Given the description of an element on the screen output the (x, y) to click on. 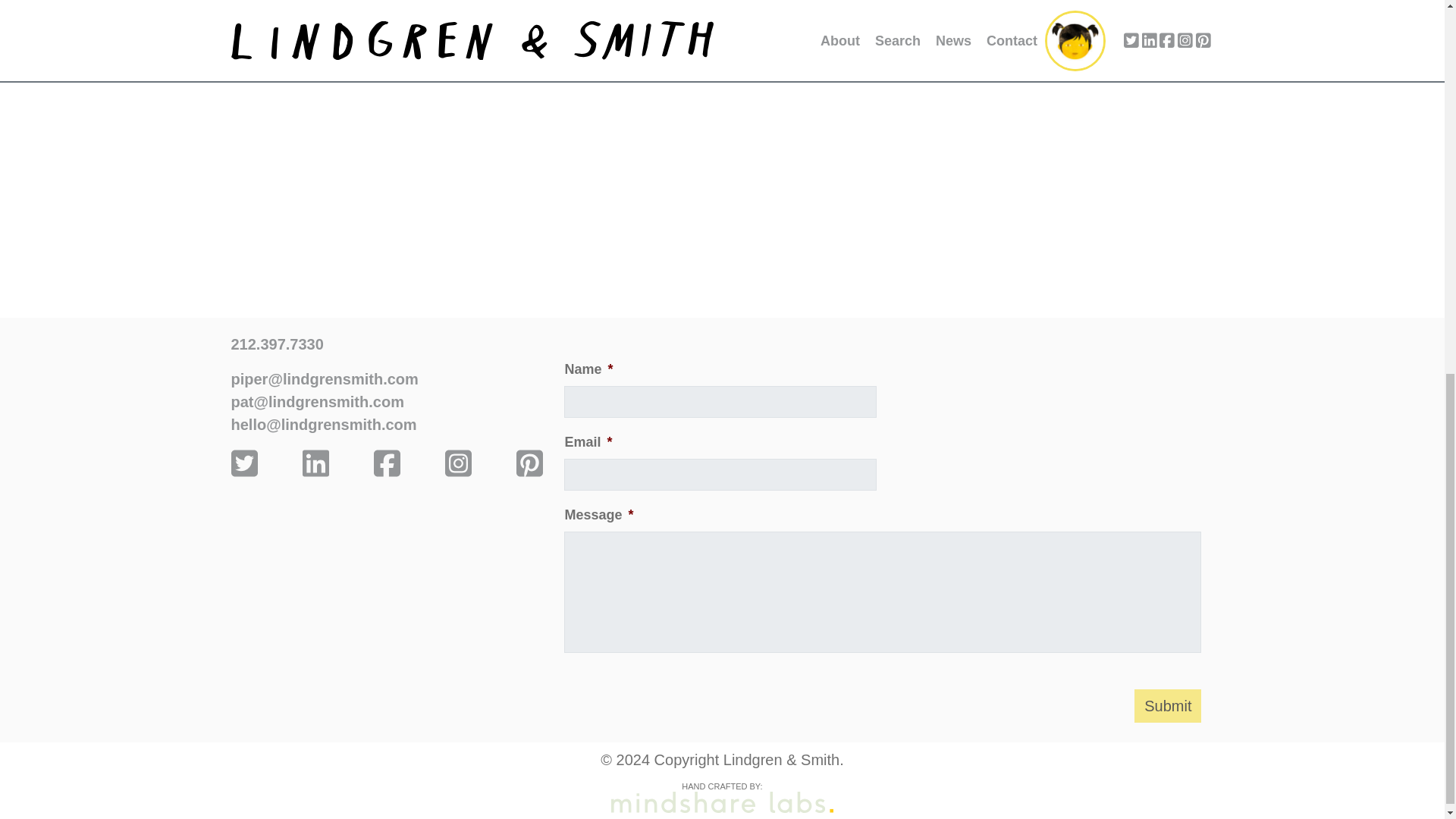
Submit (1167, 705)
Submit (1167, 705)
212.397.7330 (276, 343)
